Given the description of an element on the screen output the (x, y) to click on. 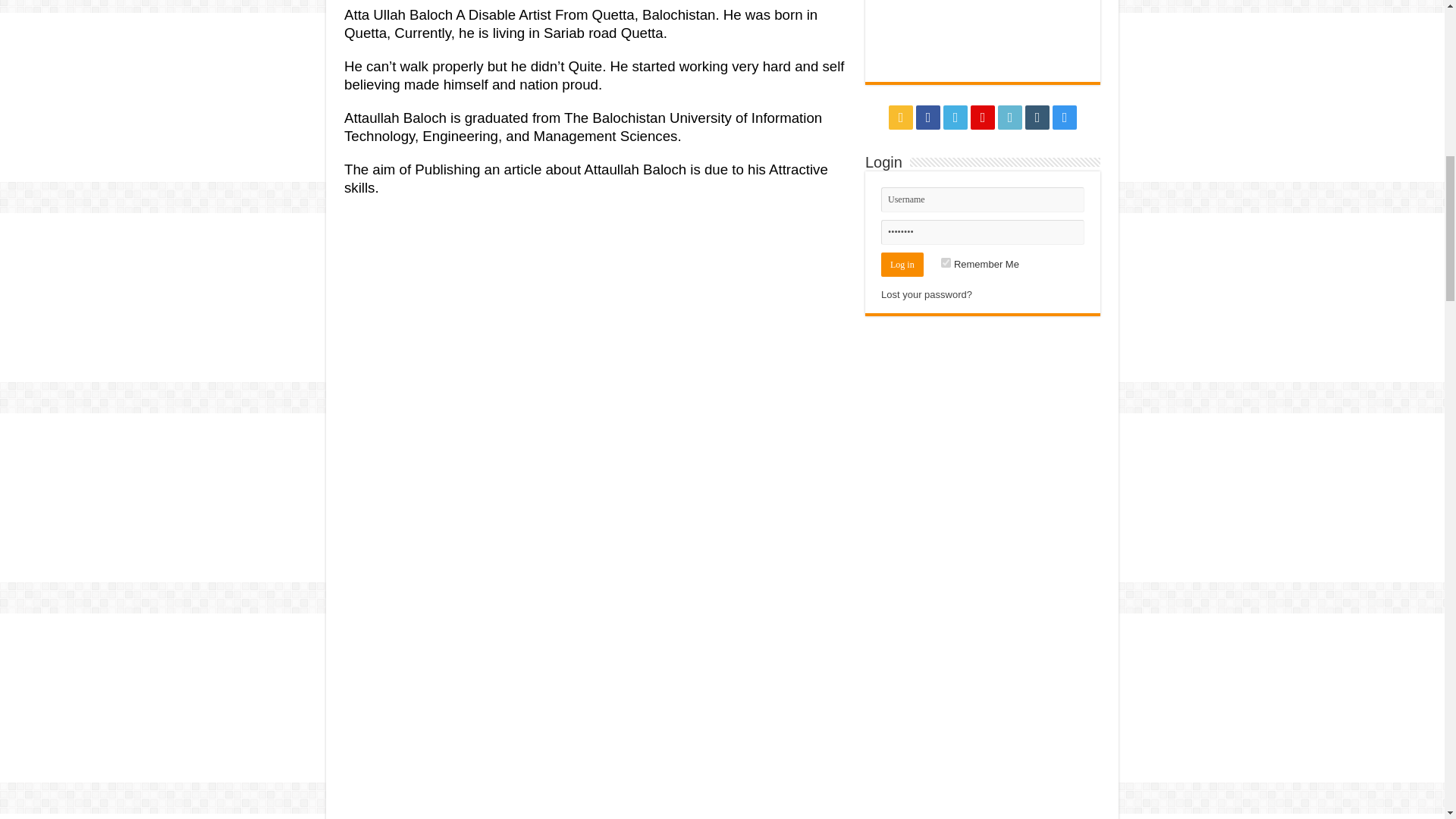
Password (982, 232)
Log in (901, 263)
forever (945, 262)
Username (982, 198)
